Given the description of an element on the screen output the (x, y) to click on. 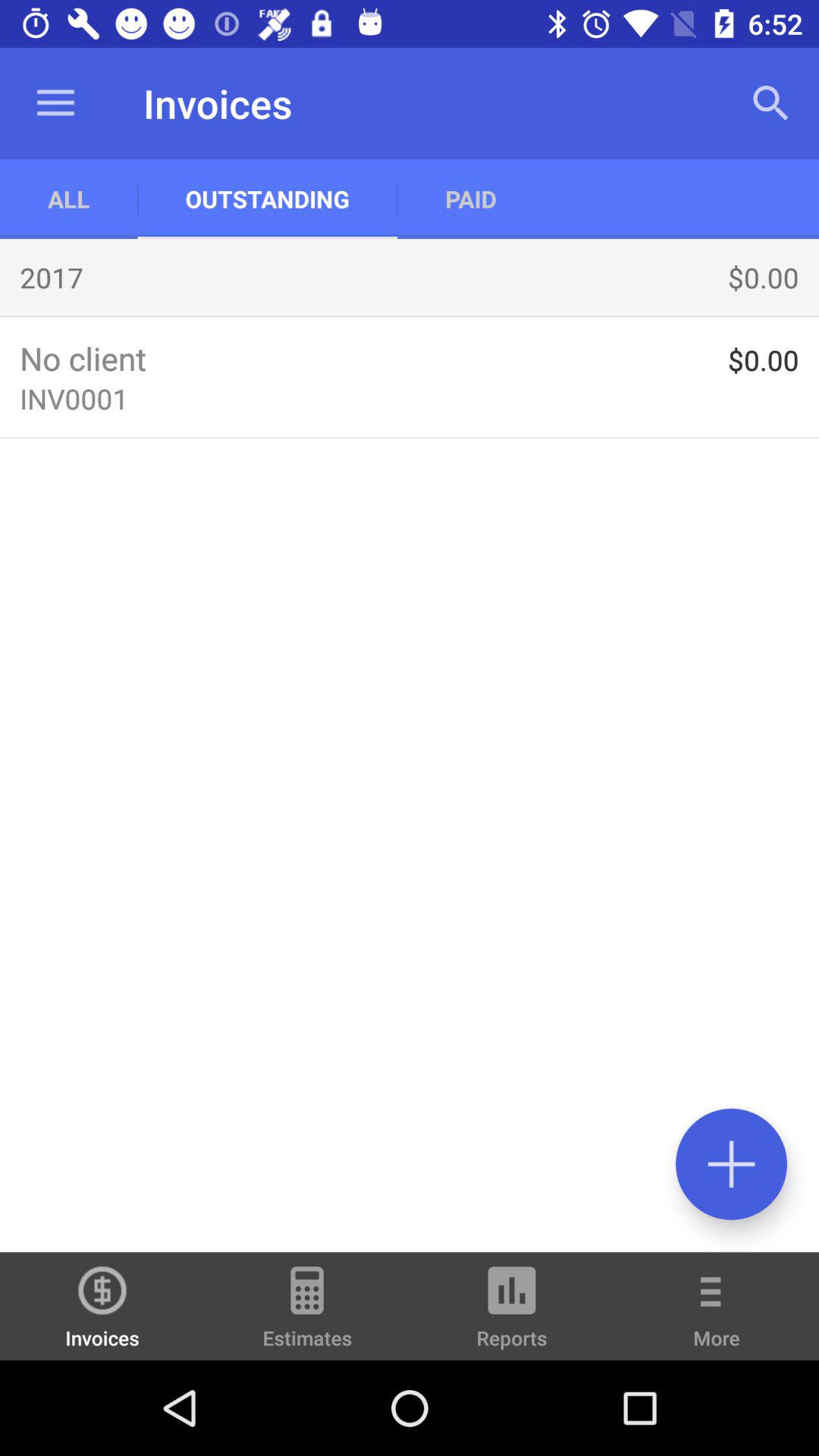
choose icon next to invoices item (306, 1313)
